Given the description of an element on the screen output the (x, y) to click on. 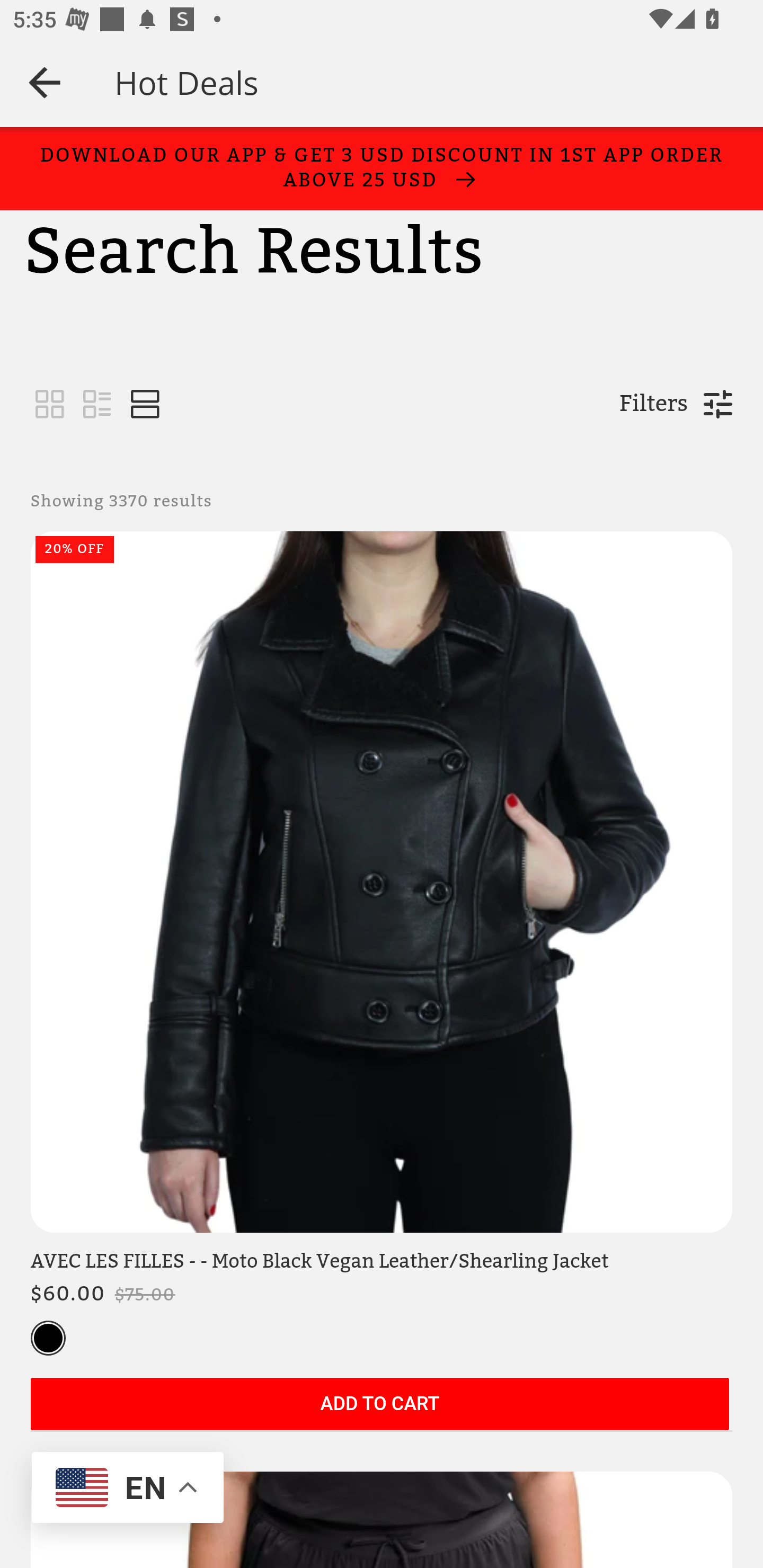
Navigate up (44, 82)
Skip to content (99, 166)
Filters (653, 404)
search-results-page?collection=sale# (50, 404)
search-results-page?collection=sale# (97, 404)
search-results-page?collection=sale# (145, 404)
Black (48, 1338)
ADD TO CART (379, 1404)
